Given the description of an element on the screen output the (x, y) to click on. 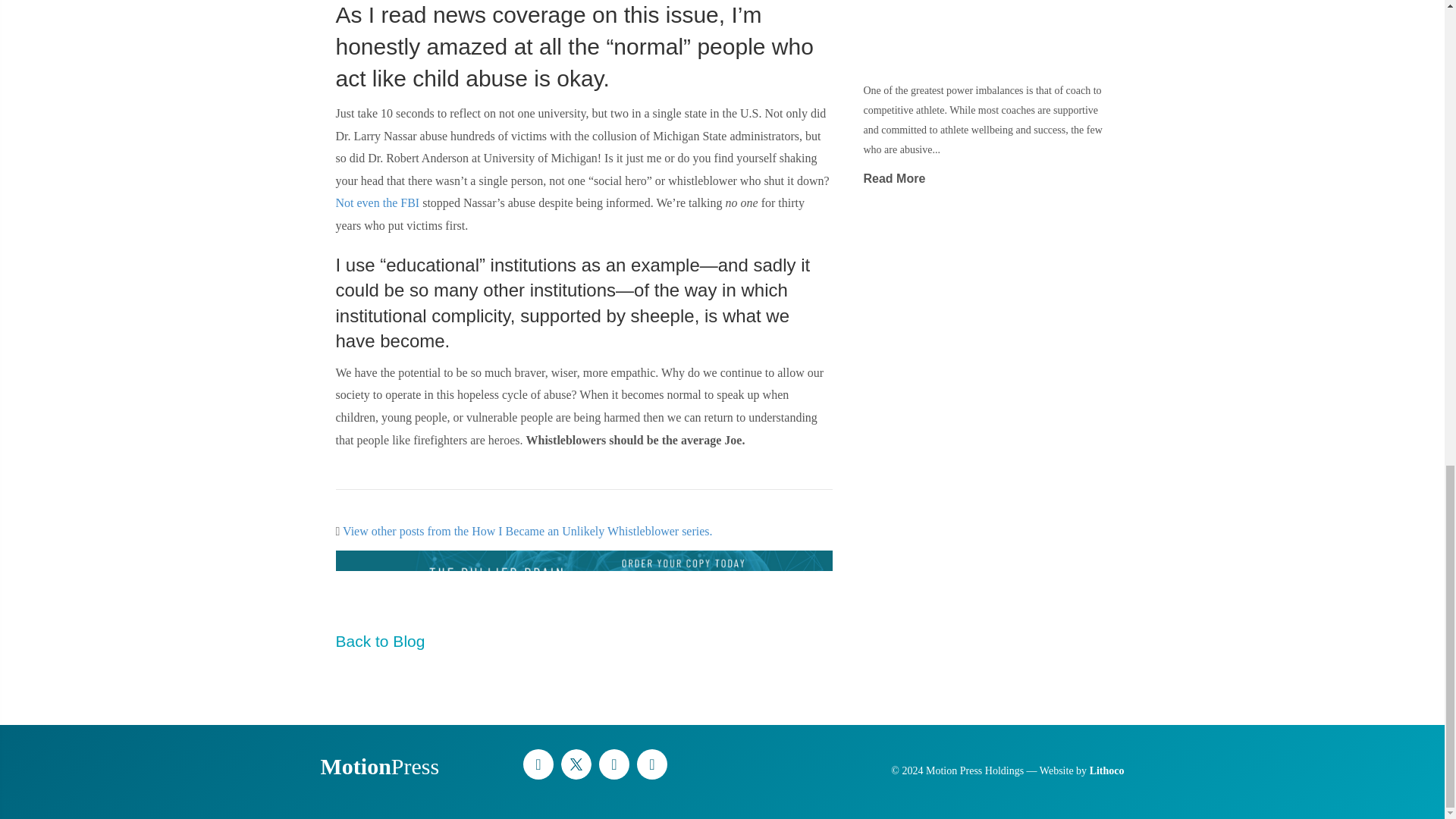
Back to Blog (379, 641)
MotionPress (379, 765)
Read More (893, 178)
The bullied brain book (583, 580)
Twitter (575, 764)
Read More (893, 178)
Not even the FBI (376, 202)
